Given the description of an element on the screen output the (x, y) to click on. 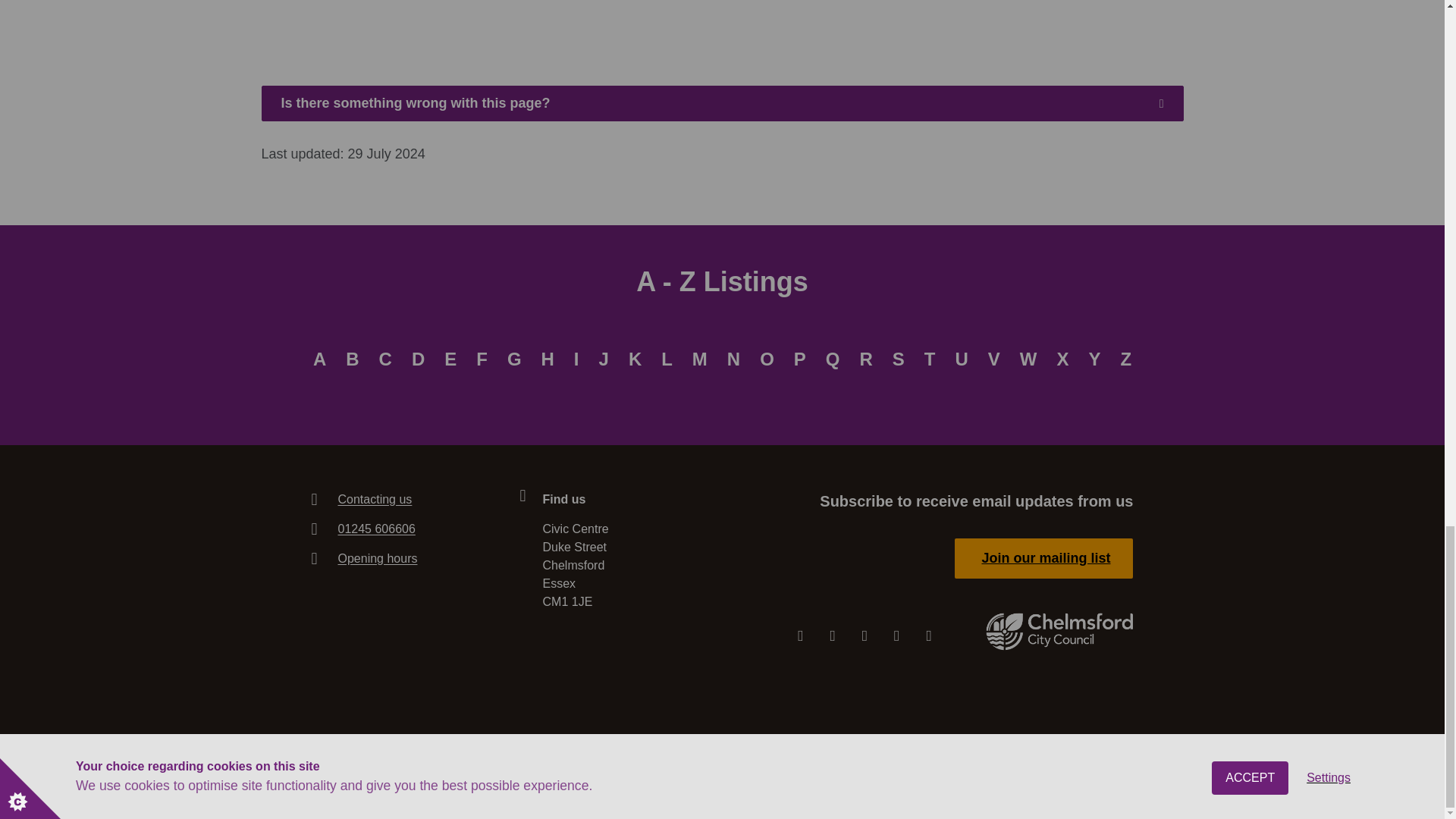
P (799, 359)
G (514, 359)
C (385, 359)
E (449, 359)
C (385, 359)
H (547, 359)
A (319, 359)
D (417, 359)
E (449, 359)
H (547, 359)
